Given the description of an element on the screen output the (x, y) to click on. 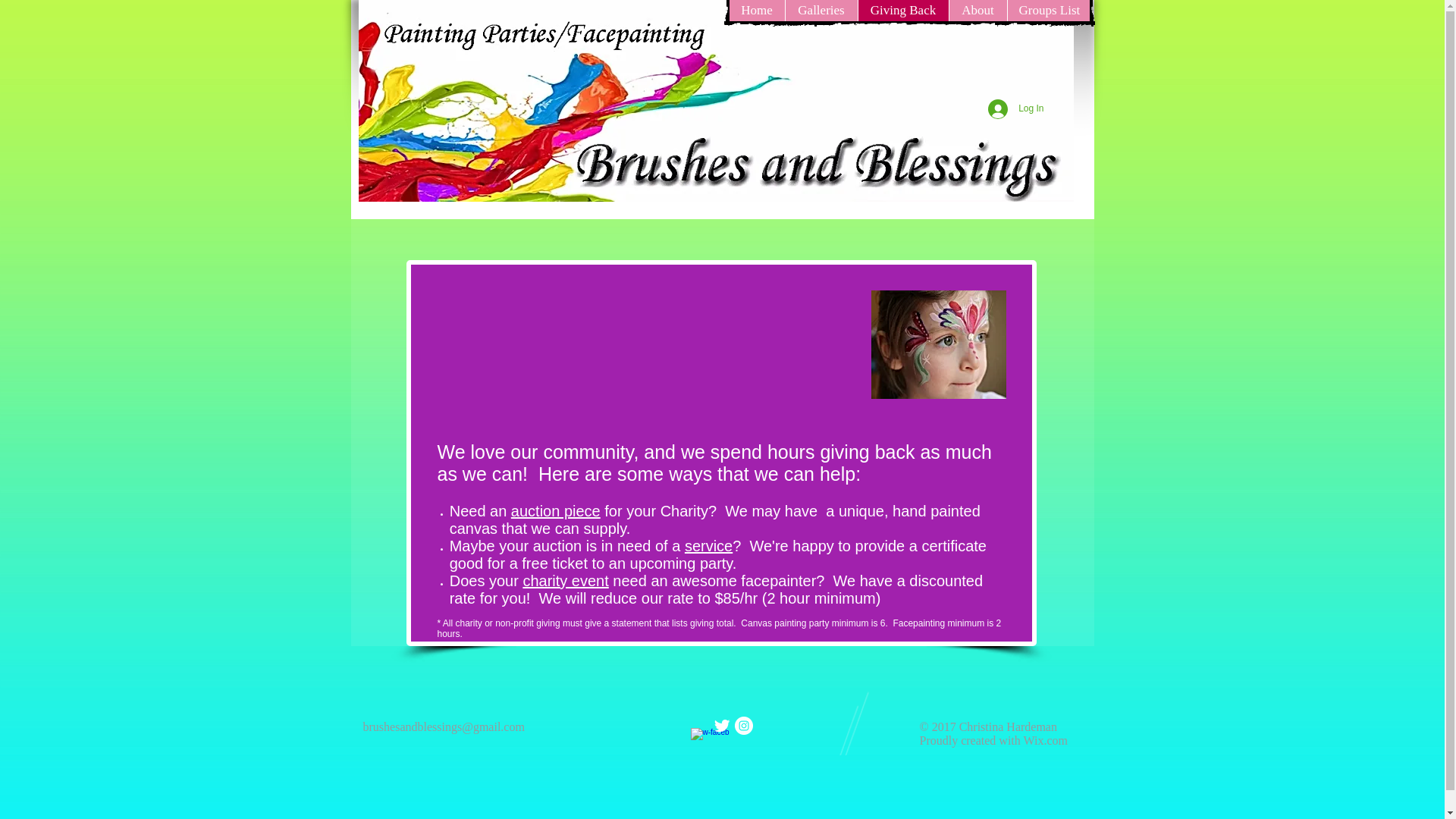
Giving Back (902, 10)
About (976, 10)
Log In (1015, 109)
Home (756, 10)
04-3-17-5711.jpg (938, 344)
Groups List (1048, 10)
Wix.com (1045, 739)
